Given the description of an element on the screen output the (x, y) to click on. 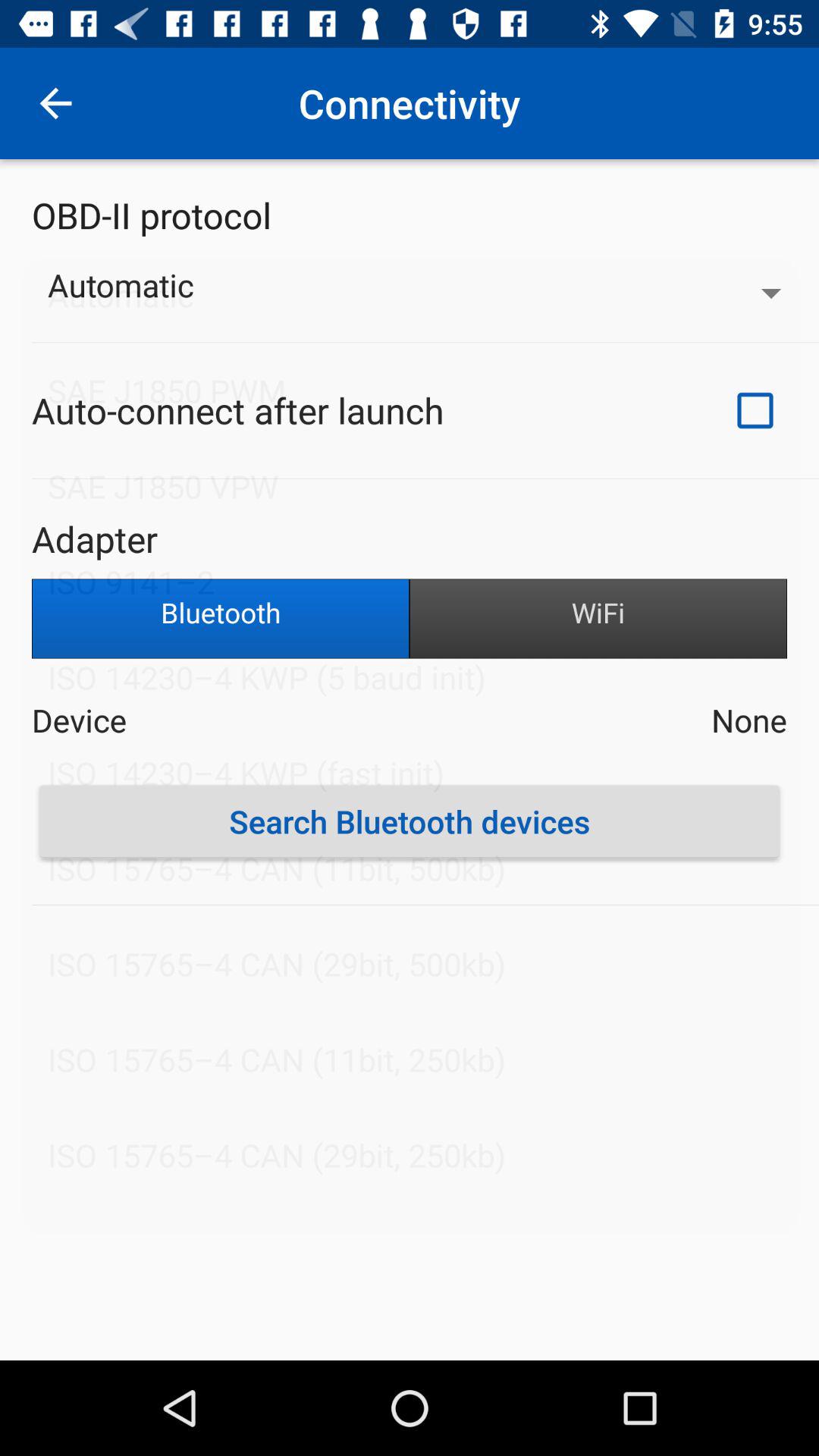
click item at the top left corner (55, 103)
